Given the description of an element on the screen output the (x, y) to click on. 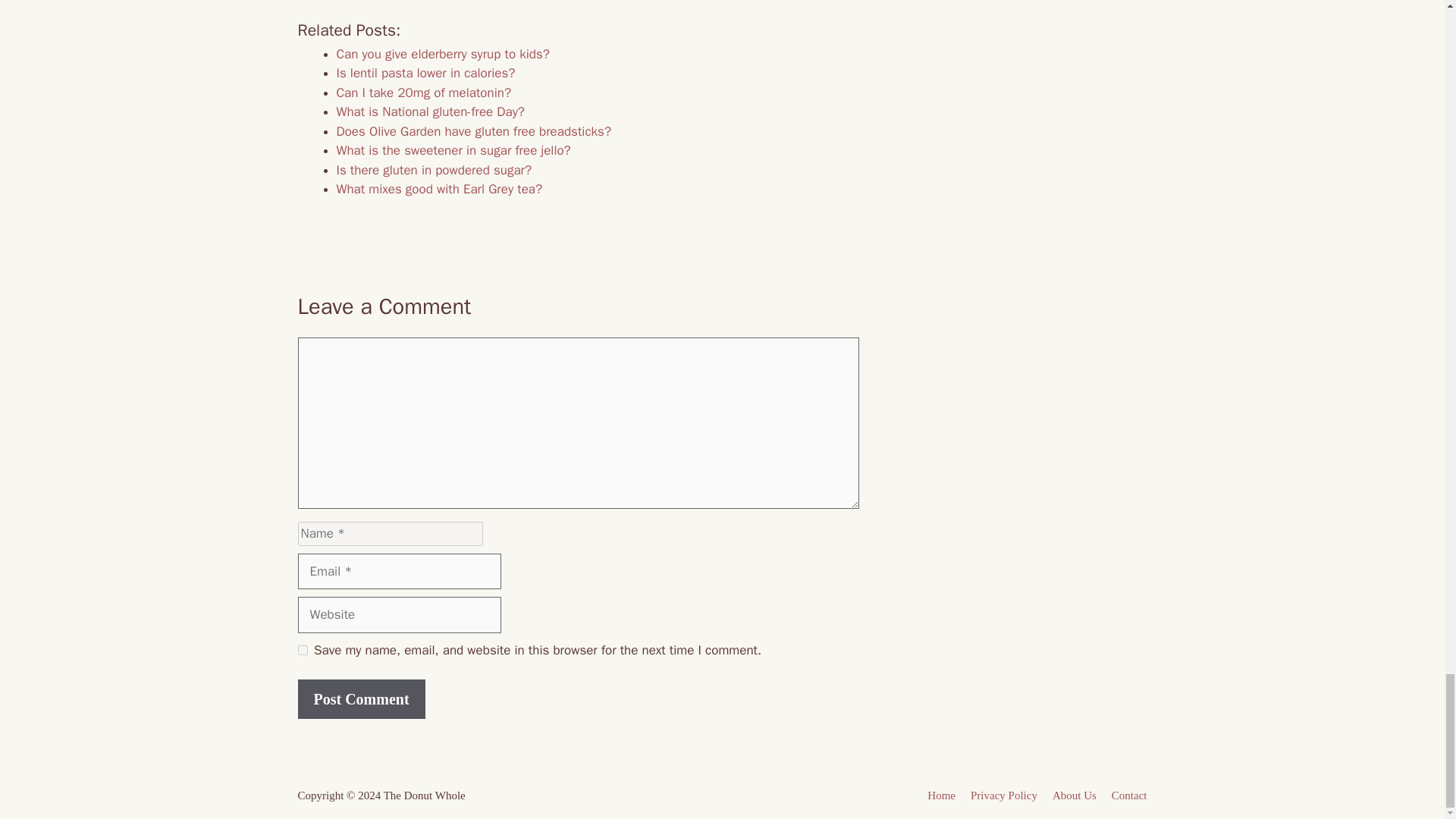
yes (302, 650)
Post Comment (361, 699)
